Given the description of an element on the screen output the (x, y) to click on. 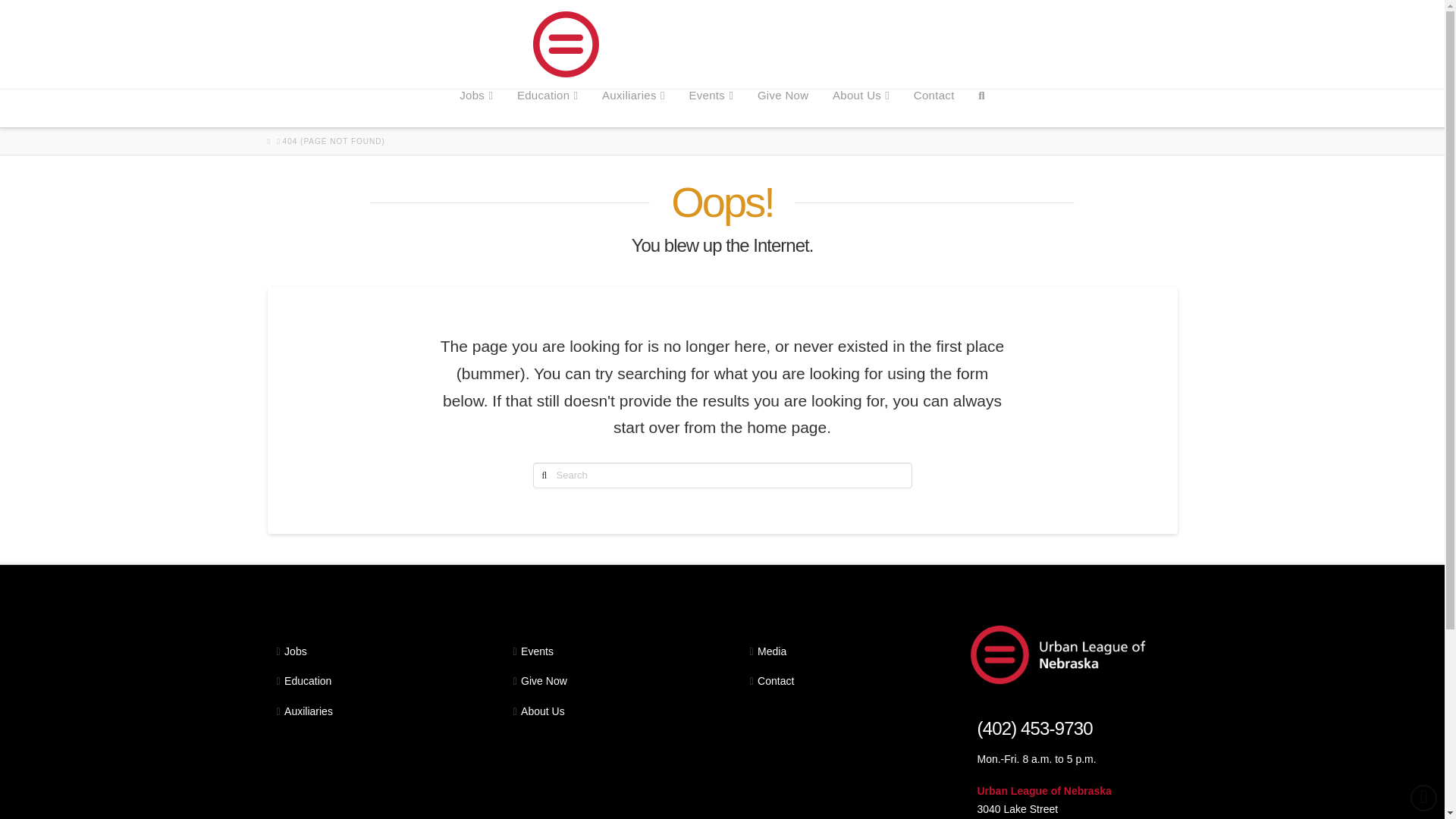
Give Now (783, 108)
About Us (861, 108)
You Are Here (333, 141)
Contact (933, 108)
Auxiliaries (633, 108)
Back to Top (1423, 797)
Events (710, 108)
Education (547, 108)
Jobs (475, 108)
